Given the description of an element on the screen output the (x, y) to click on. 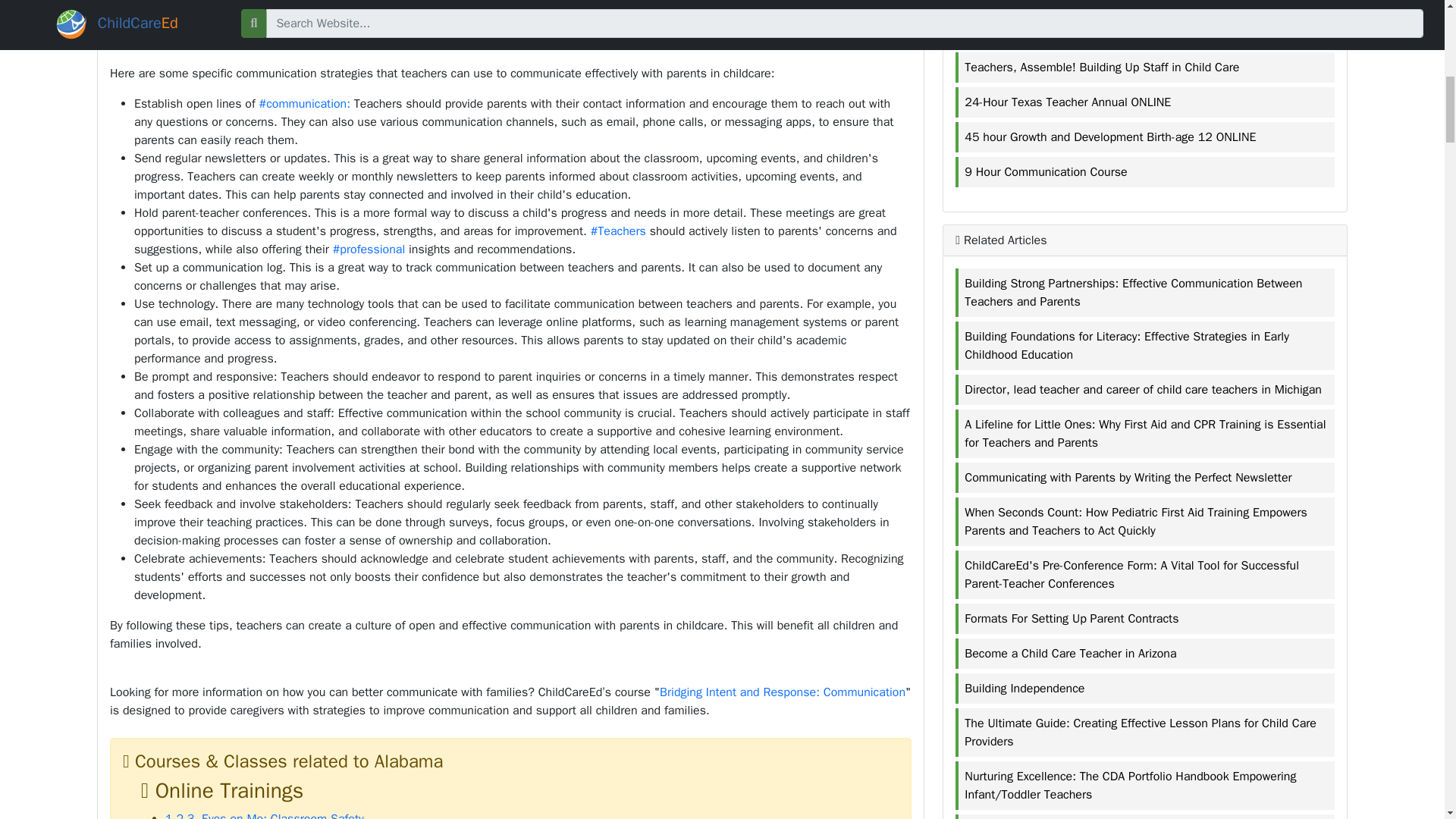
Bridging Intent and Response: Communication (782, 692)
Building Independence (1145, 688)
Formats For Setting Up Parent Contracts (1145, 618)
Become a Child Care Teacher in Arizona (1145, 653)
1,2,3, Eyes on Me: Classroom Safety (264, 815)
